Given the description of an element on the screen output the (x, y) to click on. 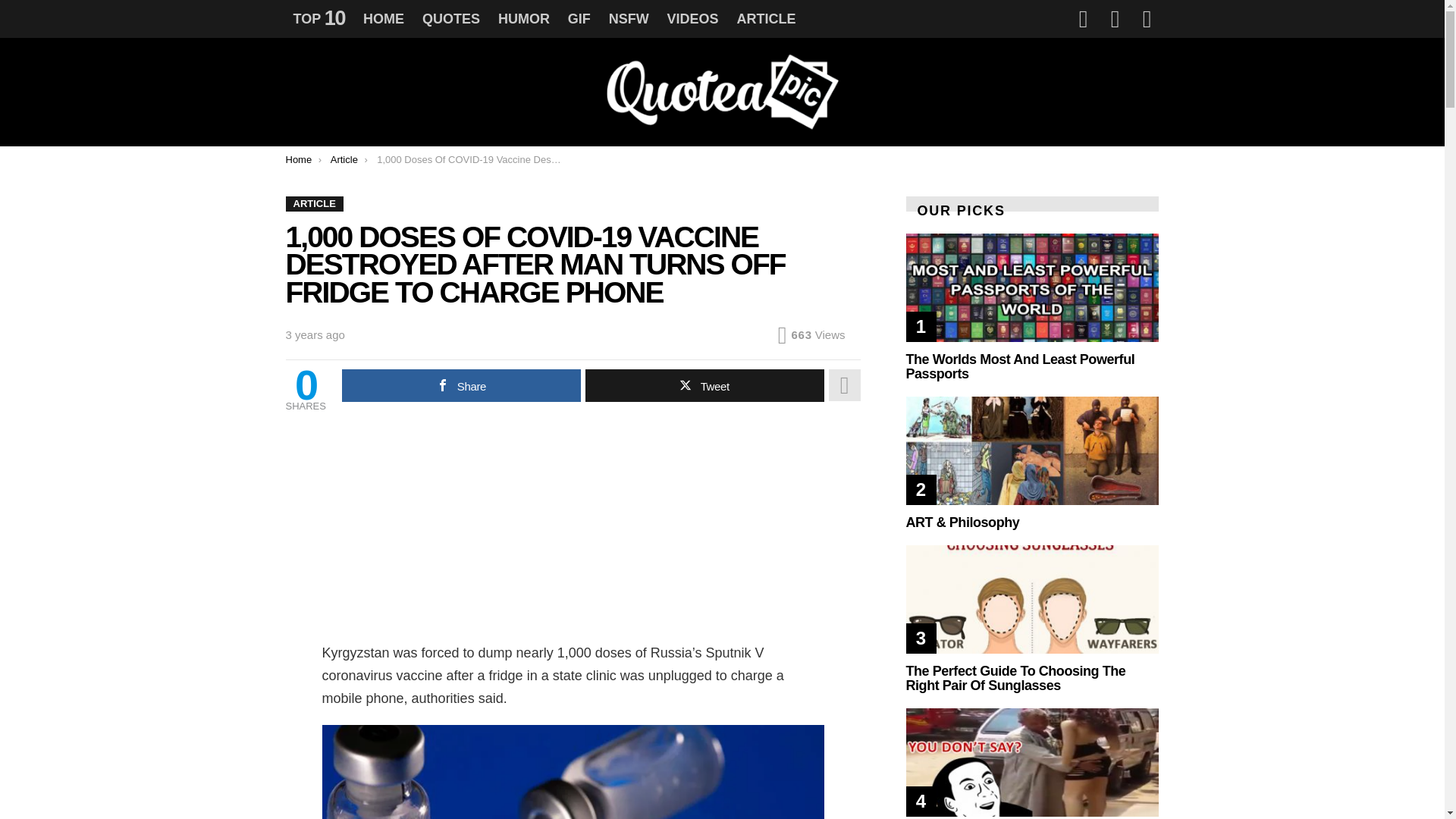
Advertisement (572, 535)
GIF (579, 18)
ARTICLE (313, 203)
TOP 10 (318, 18)
QUOTES (450, 18)
Tweet (704, 385)
ARTICLE (766, 18)
HUMOR (523, 18)
Share (461, 385)
NSFW (628, 18)
HOME (383, 18)
VIDEOS (692, 18)
Home (298, 159)
Article (344, 159)
June 11, 2021, 11:21 am (314, 335)
